Given the description of an element on the screen output the (x, y) to click on. 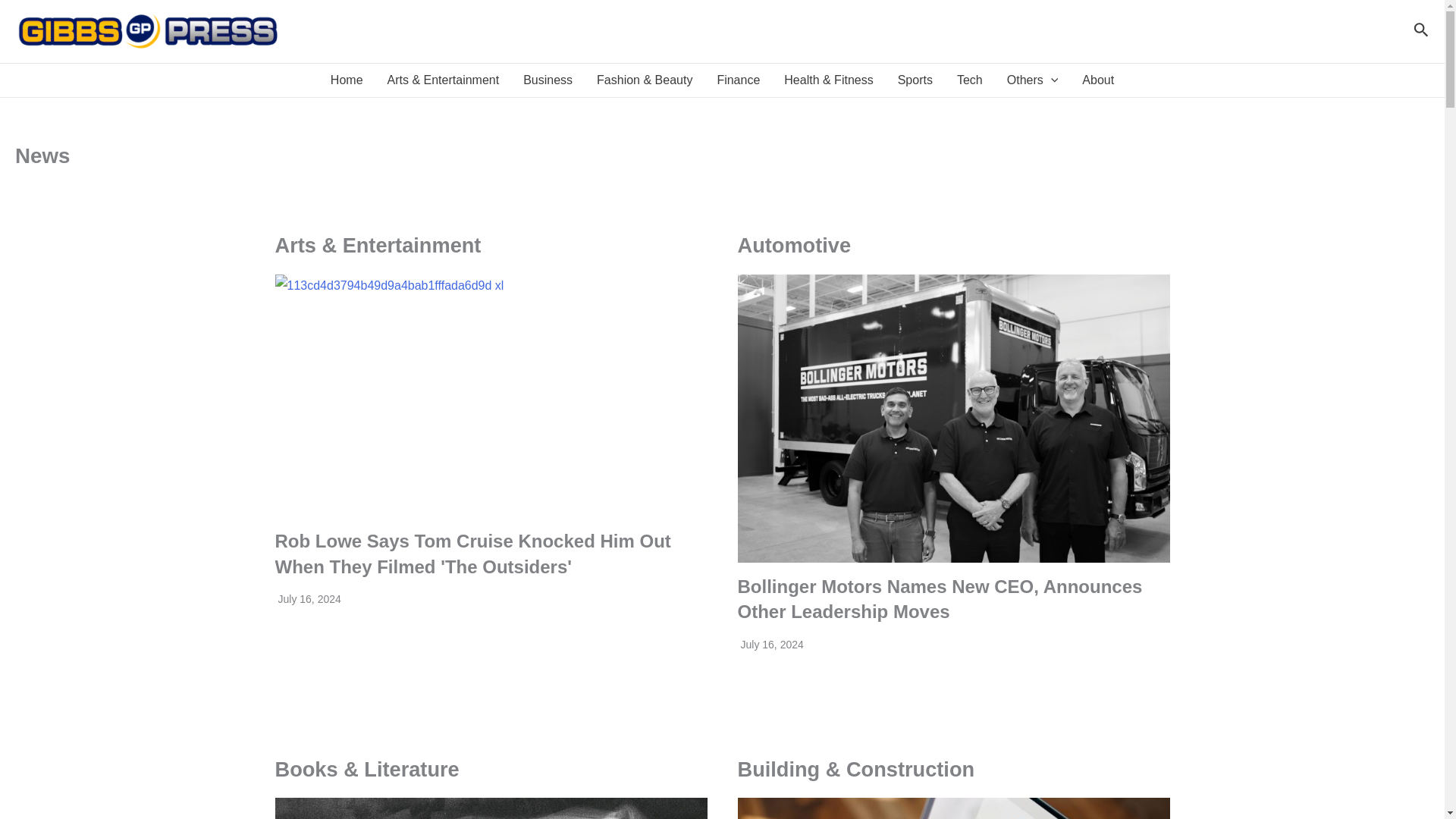
Finance (737, 80)
Home (346, 80)
About (1097, 80)
Business (548, 80)
Sports (914, 80)
Tech (969, 80)
Others (1032, 80)
